Given the description of an element on the screen output the (x, y) to click on. 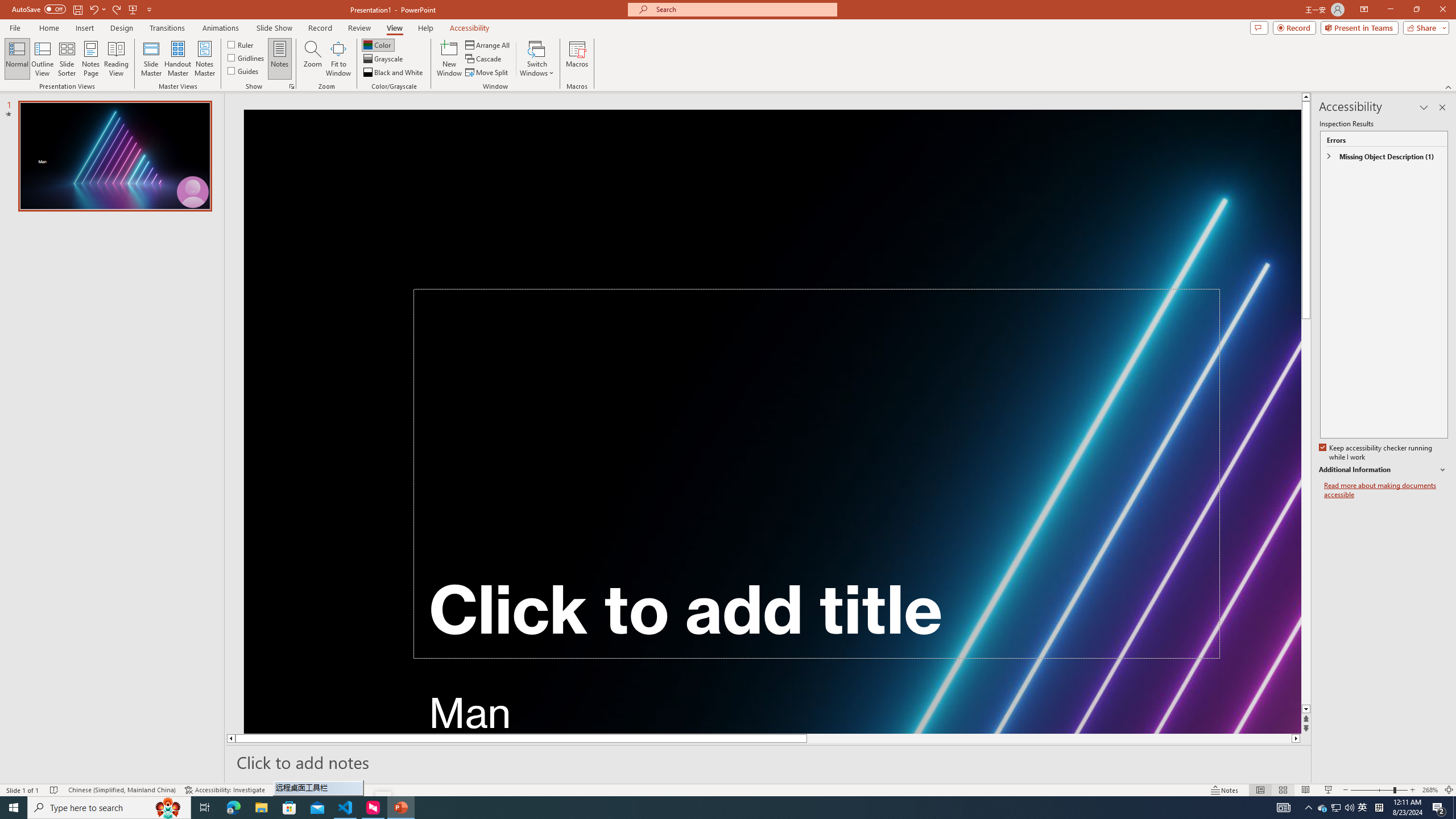
Black and White (393, 72)
Outline View (42, 58)
Zoom... (312, 58)
